Given the description of an element on the screen output the (x, y) to click on. 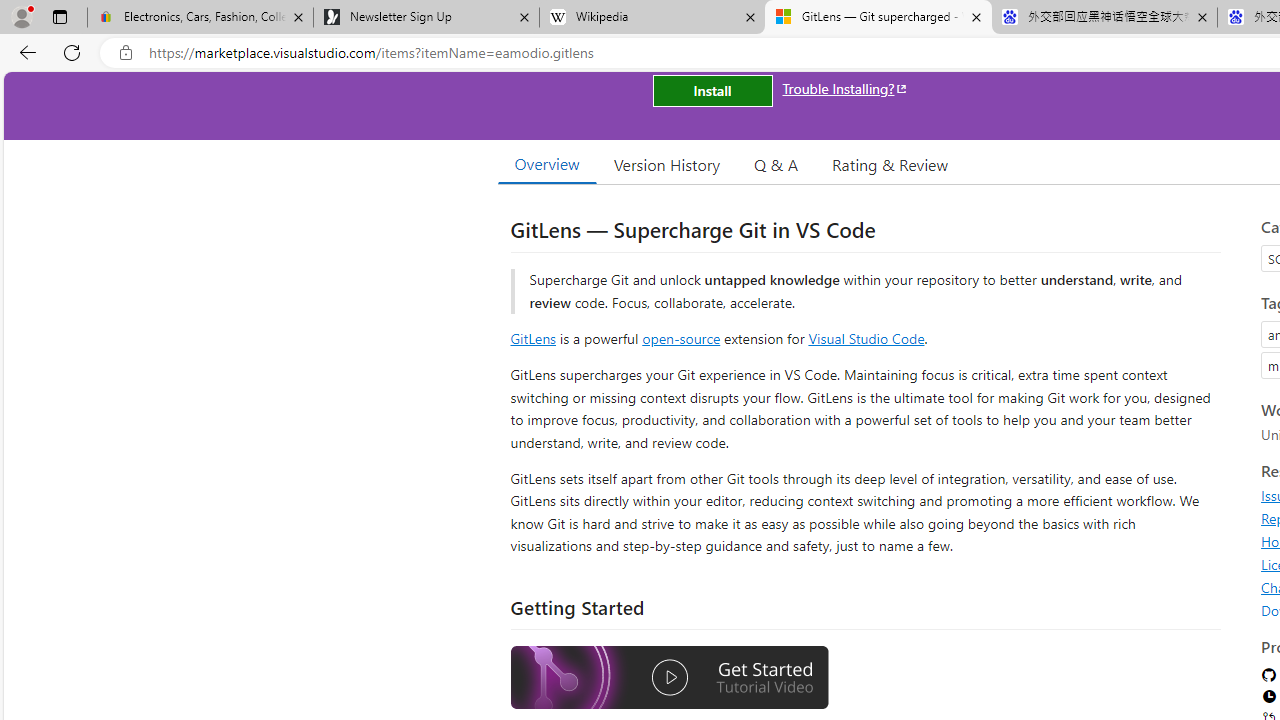
Newsletter Sign Up (425, 17)
Visual Studio Code (866, 337)
GitLens (532, 337)
open-source (681, 337)
